Given the description of an element on the screen output the (x, y) to click on. 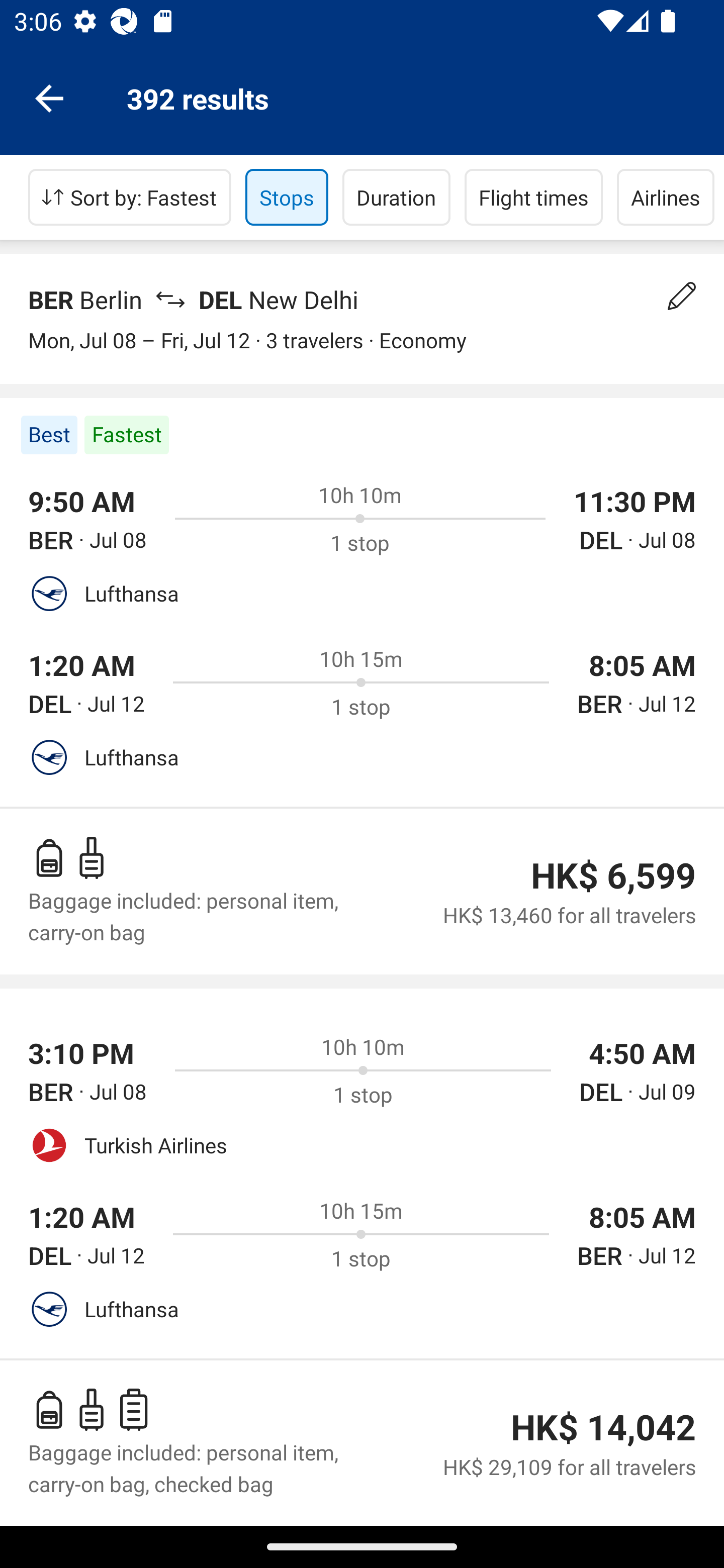
Navigate up (49, 97)
Sort by: Fastest (129, 197)
Stops (286, 197)
Duration (396, 197)
Flight times (533, 197)
Airlines (665, 197)
Change your search details (681, 296)
HK$ 6,599 (612, 875)
HK$ 14,042 (603, 1427)
